Given the description of an element on the screen output the (x, y) to click on. 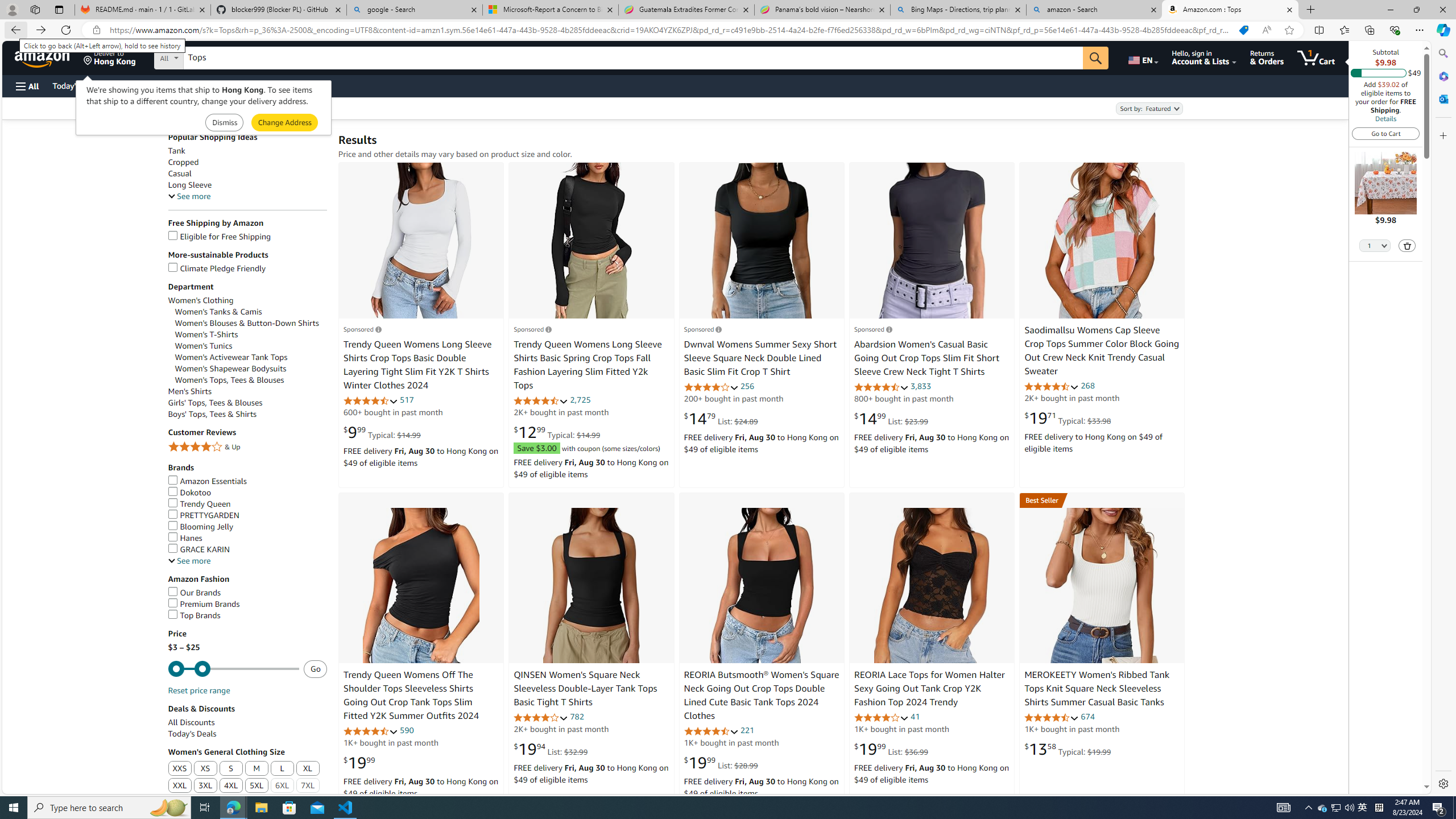
590 (406, 729)
XXS (179, 769)
M (255, 768)
Premium Brands (203, 603)
L (282, 768)
2,725 (580, 399)
XXS (179, 768)
Boys' Tops, Tees & Shirts (212, 413)
3XL (204, 785)
XS (204, 769)
4 Stars & Up (247, 447)
